Given the description of an element on the screen output the (x, y) to click on. 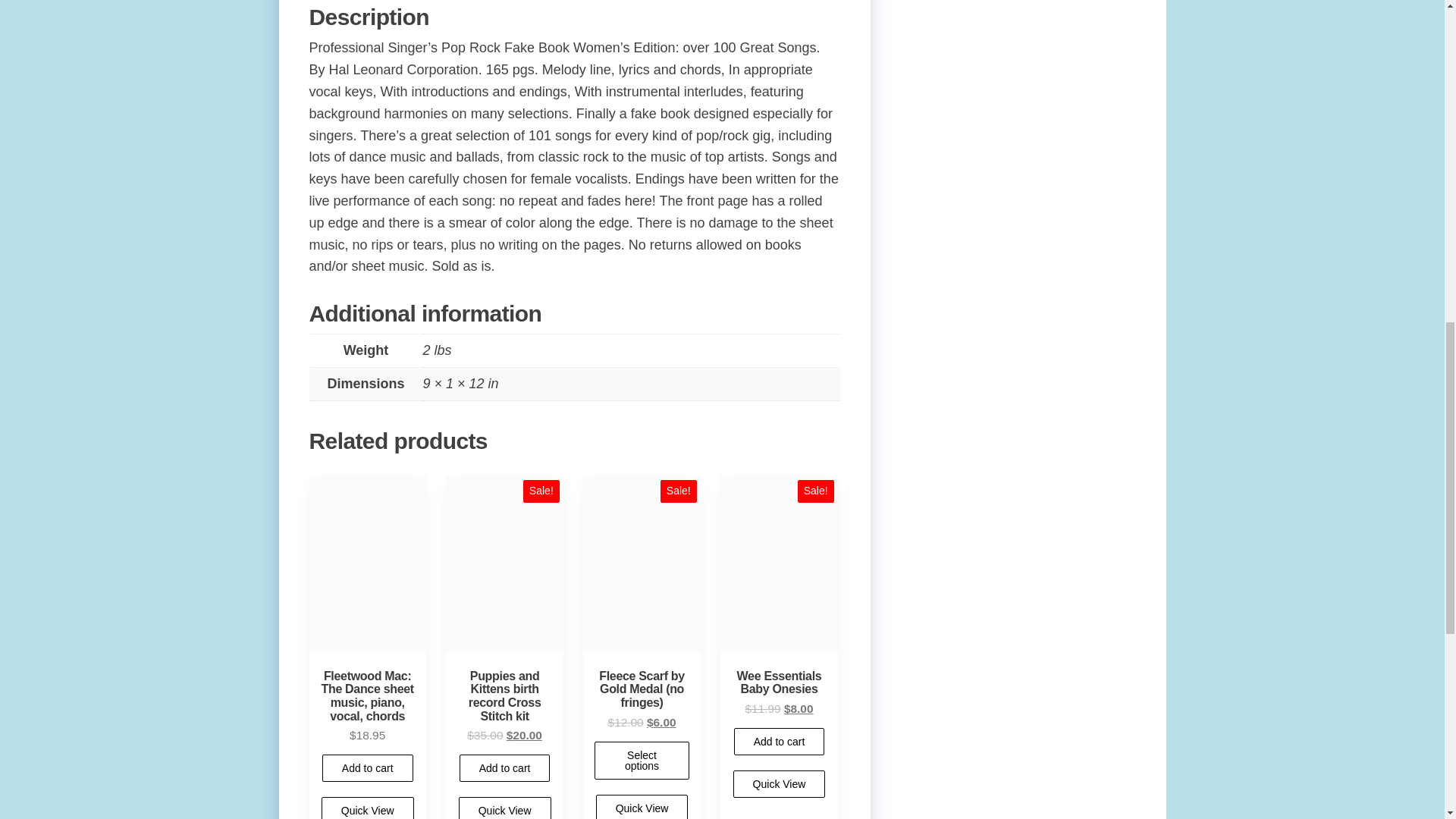
Quick View (367, 807)
Add to cart (505, 768)
Quick View (504, 807)
Add to cart (367, 768)
